Given the description of an element on the screen output the (x, y) to click on. 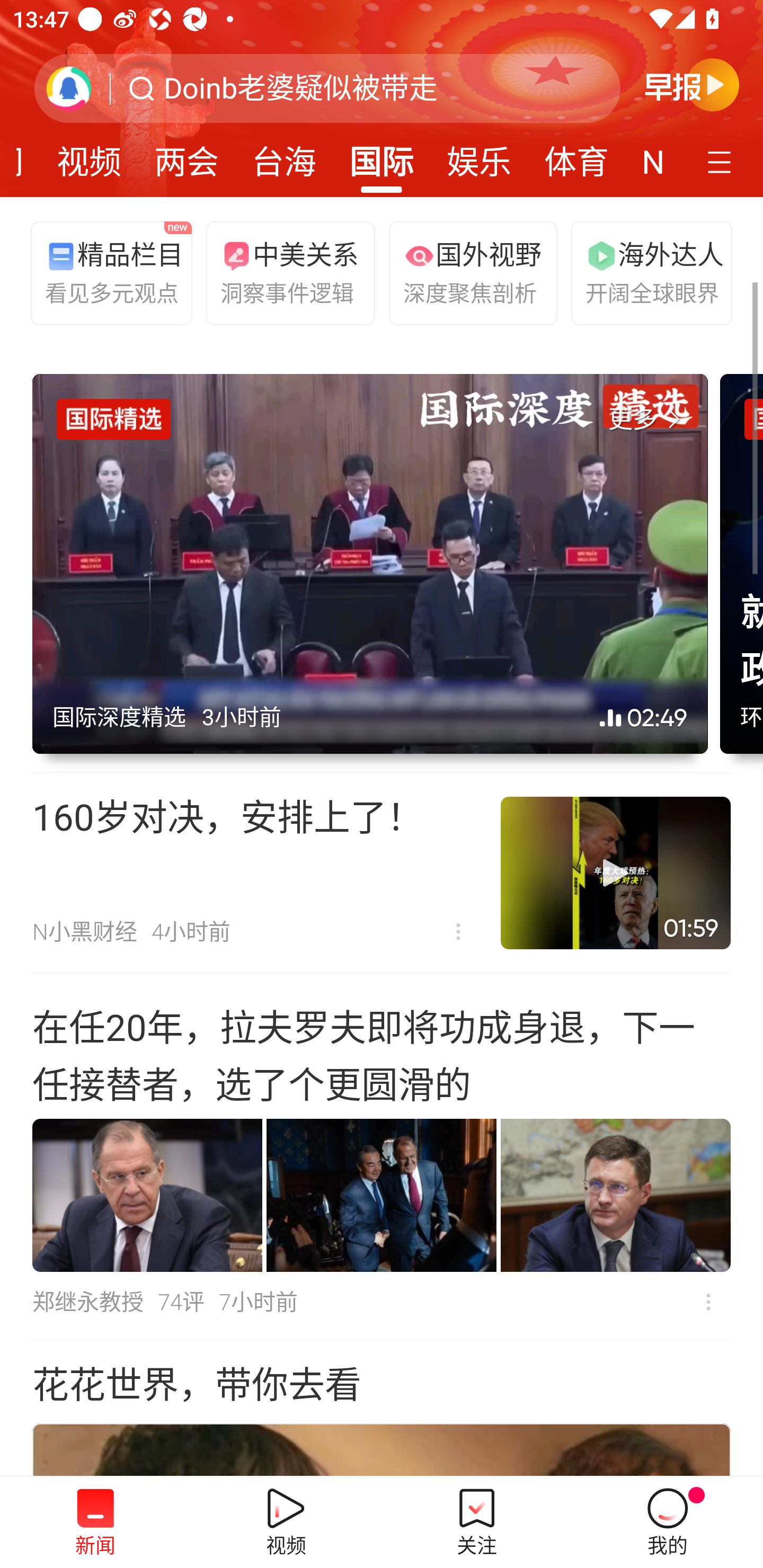
早晚报 (691, 84)
刷新 (68, 88)
Doinb老婆疑似被带走 (300, 88)
视频 (89, 155)
两会 (186, 155)
台海 (283, 155)
国际 (381, 155)
娱乐 (478, 155)
体育 (575, 155)
 定制频道 (721, 160)
精品栏目 看见多元观点 (106, 272)
中美关系 洞察事件逻辑 (282, 272)
国外视野 深度聚焦剖析 (465, 272)
海外达人 开阔全球眼界 (647, 272)
更多  (648, 419)
160岁对决，安排上了！ N小黑财经 4小时前  不感兴趣 01:59 (381, 873)
 不感兴趣 (458, 931)
 不感兴趣 (707, 1301)
花花世界，带你去看 (196, 1385)
